Given the description of an element on the screen output the (x, y) to click on. 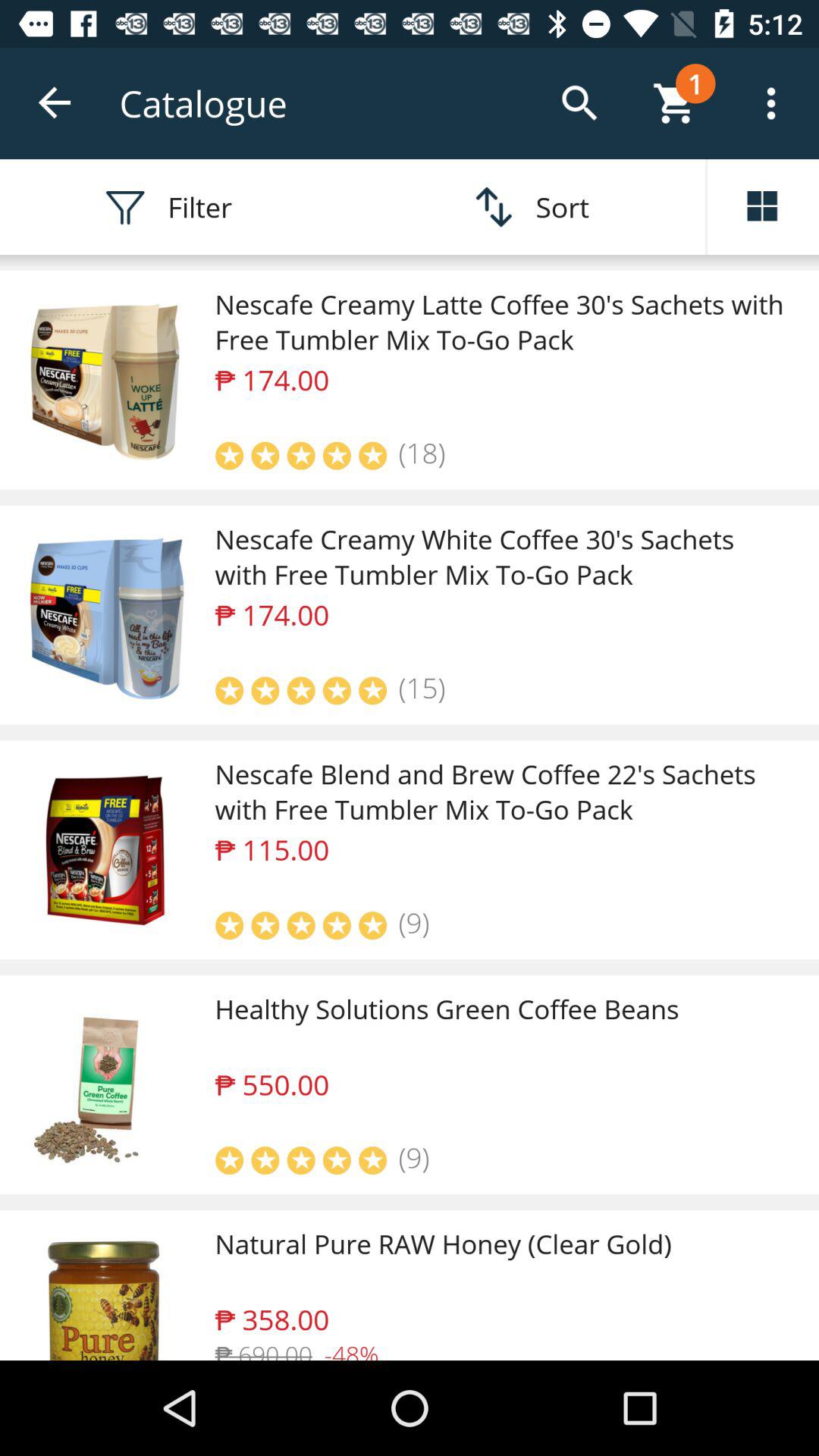
show elements in squares (763, 206)
